Given the description of an element on the screen output the (x, y) to click on. 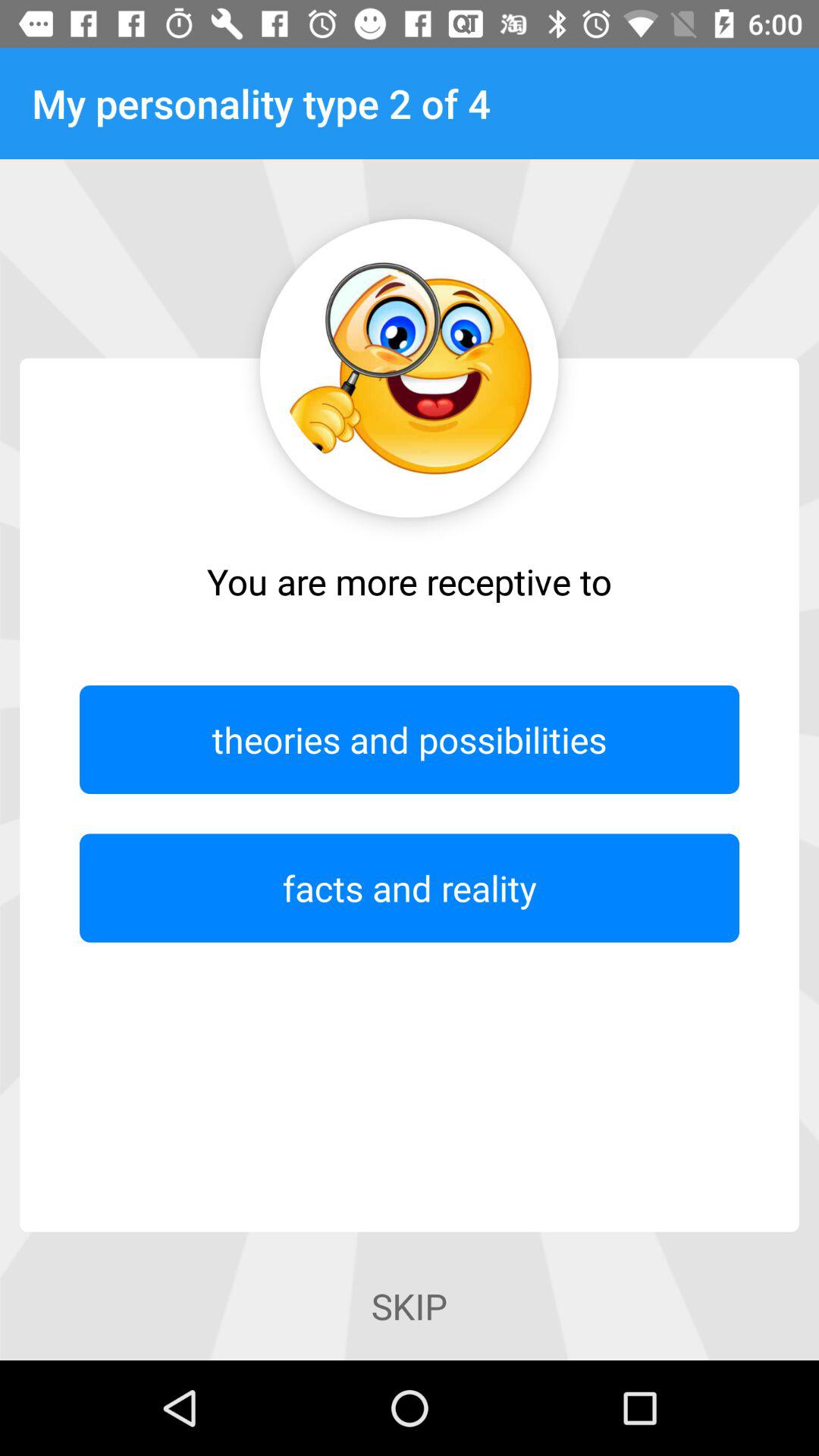
open item below the theories and possibilities (409, 887)
